Given the description of an element on the screen output the (x, y) to click on. 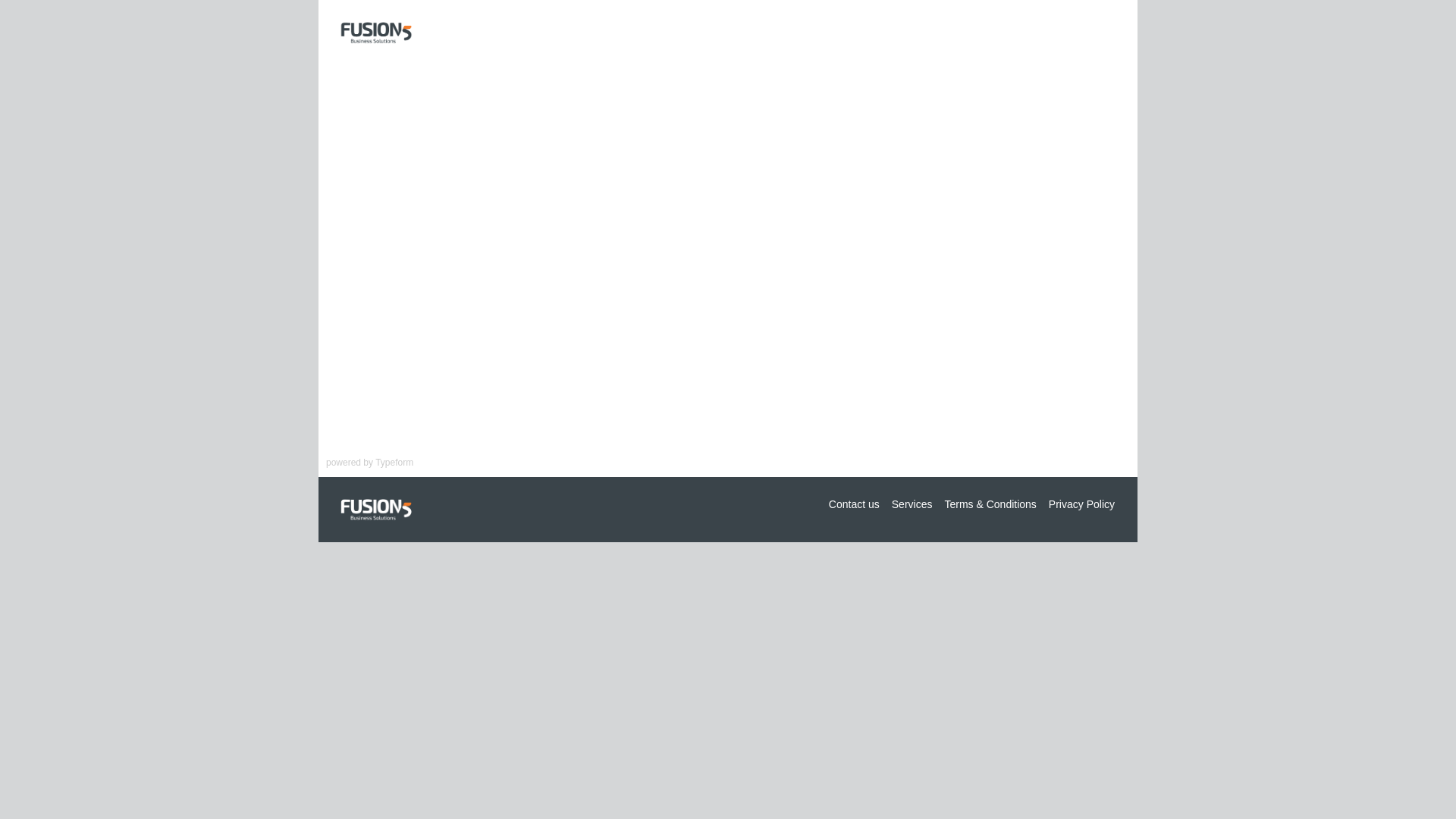
Contact us Element type: text (853, 503)
Privacy Policy Element type: text (1081, 503)
Typeform Element type: text (394, 462)
Terms & Conditions Element type: text (989, 503)
Services Element type: text (911, 503)
